Given the description of an element on the screen output the (x, y) to click on. 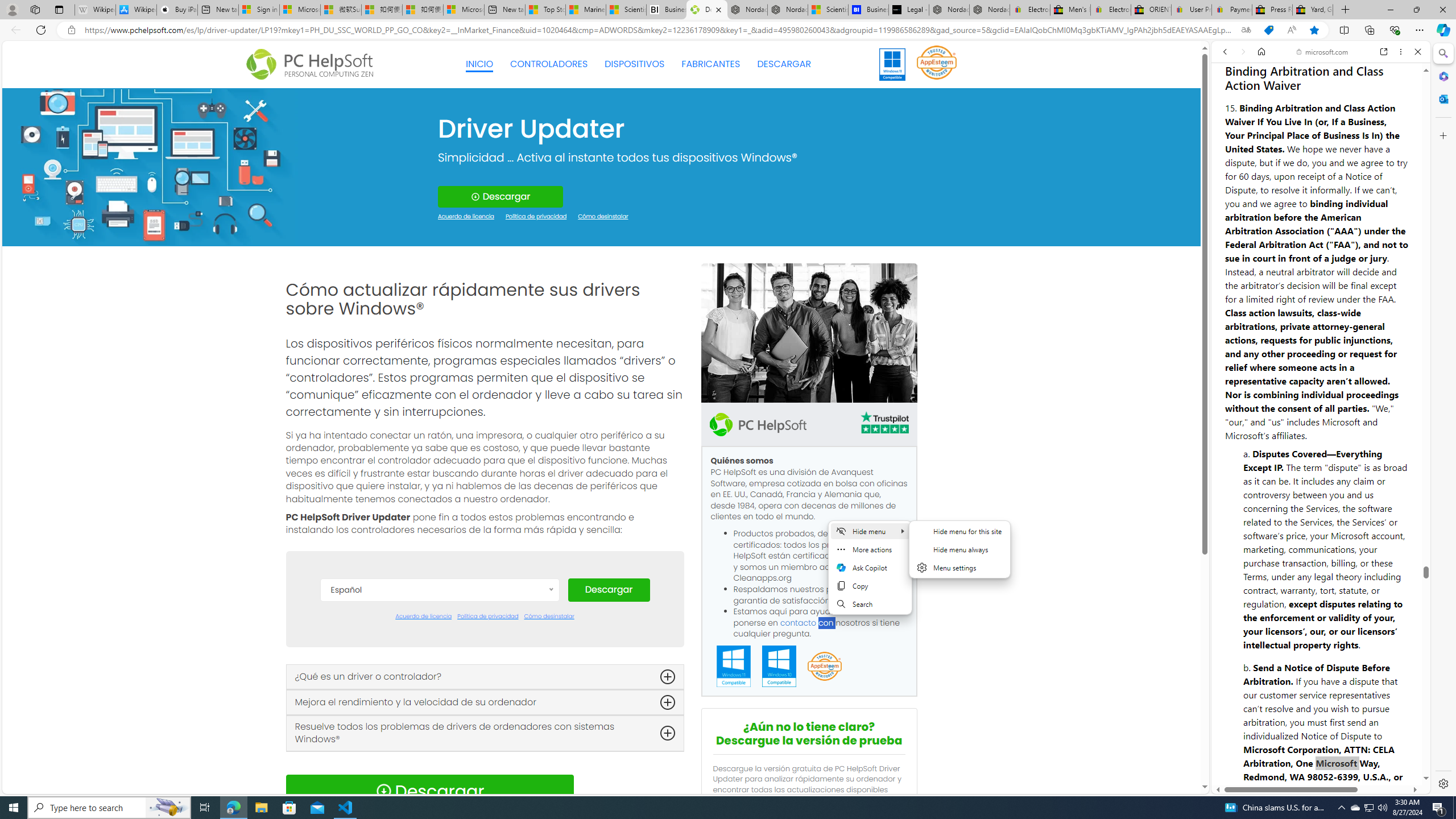
English (439, 695)
Forward (1242, 51)
